Given the description of an element on the screen output the (x, y) to click on. 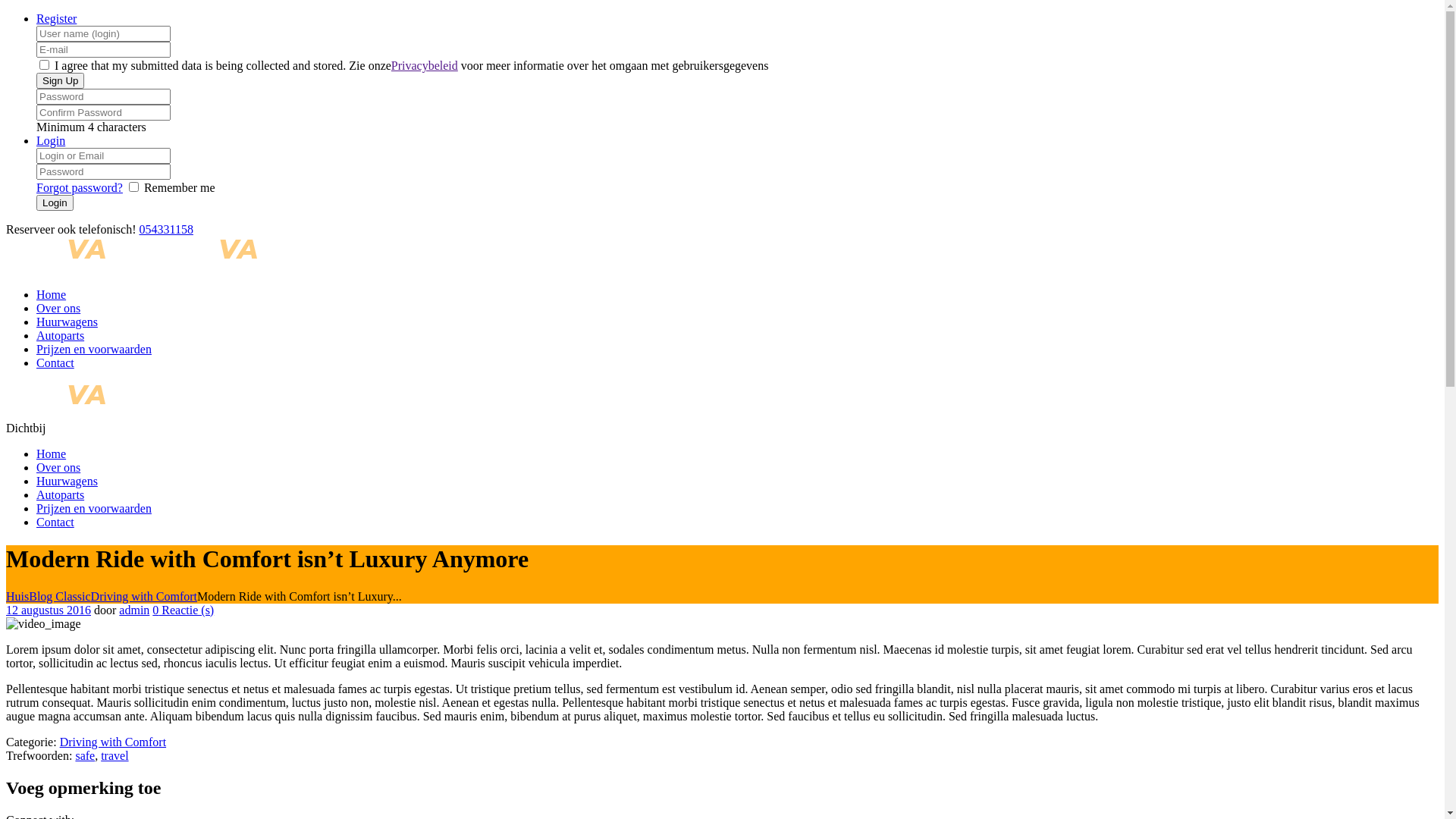
Login Element type: text (50, 140)
safe Element type: text (84, 755)
Forgot password? Element type: text (79, 187)
Autoparts Element type: text (60, 494)
Blog Classic Element type: text (59, 595)
Prijzen en voorwaarden Element type: text (93, 348)
Sign Up Element type: text (60, 80)
Home Element type: text (50, 294)
travel Element type: text (114, 755)
Over ons Element type: text (58, 467)
admin Element type: text (134, 609)
Autoparts Element type: text (60, 335)
Huurwagens Element type: text (66, 321)
12 augustus 2016 Element type: text (48, 609)
Driving with Comfort Element type: text (144, 595)
0 Reactie (s) Element type: text (182, 609)
Privacybeleid Element type: text (424, 65)
Over ons Element type: text (58, 307)
Huis Element type: text (17, 595)
054331158 Element type: text (165, 228)
Prijzen en voorwaarden Element type: text (93, 508)
Contact Element type: text (55, 521)
Huurwagens Element type: text (66, 480)
Contact Element type: text (55, 362)
Login Element type: text (54, 202)
Register Element type: text (56, 18)
Home Element type: text (50, 453)
Driving with Comfort Element type: text (112, 741)
